Given the description of an element on the screen output the (x, y) to click on. 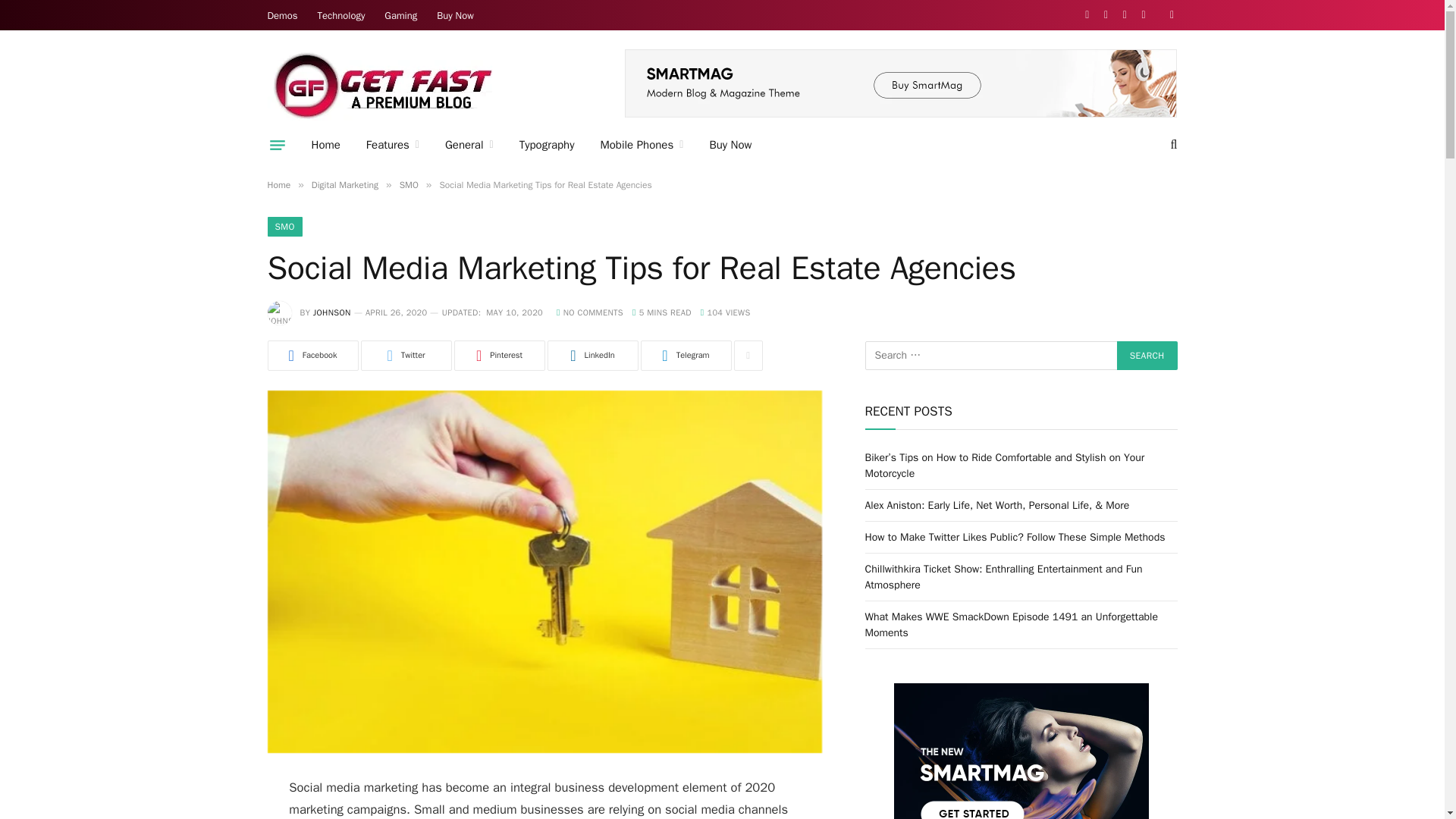
Home (325, 144)
Gaming (400, 15)
Get Fast (380, 84)
Buy Now (454, 15)
Demos (282, 15)
Search (1146, 355)
Technology (341, 15)
Switch to Dark Design - easier on eyes. (1169, 14)
Search (1146, 355)
General (469, 144)
